Given the description of an element on the screen output the (x, y) to click on. 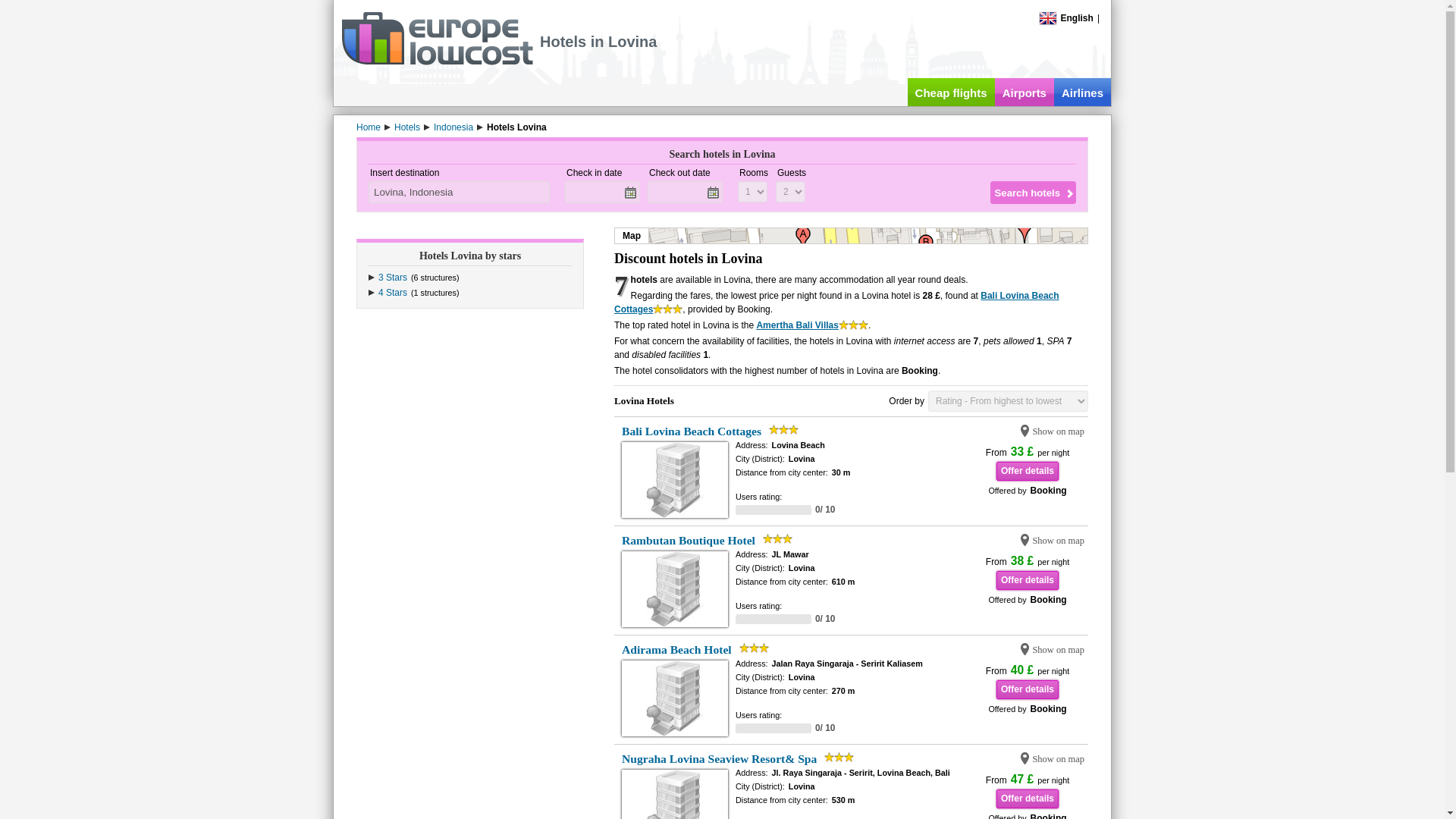
Indonesia (453, 127)
Amertha Bali Villas (796, 325)
Amertha Bali Villas (796, 325)
Adirama Beach Hotel (676, 649)
Bali Lovina Beach Cottages (691, 431)
Rambutan Boutique Hotel (688, 540)
Adirama Beach Hotel (676, 649)
Hotels (407, 127)
4 Stars (392, 292)
Offer details (1026, 470)
Home (368, 127)
Cheap flights (950, 91)
Bali Lovina Beach Cottages (836, 302)
Offer details (1026, 798)
4 Stars (392, 292)
